Given the description of an element on the screen output the (x, y) to click on. 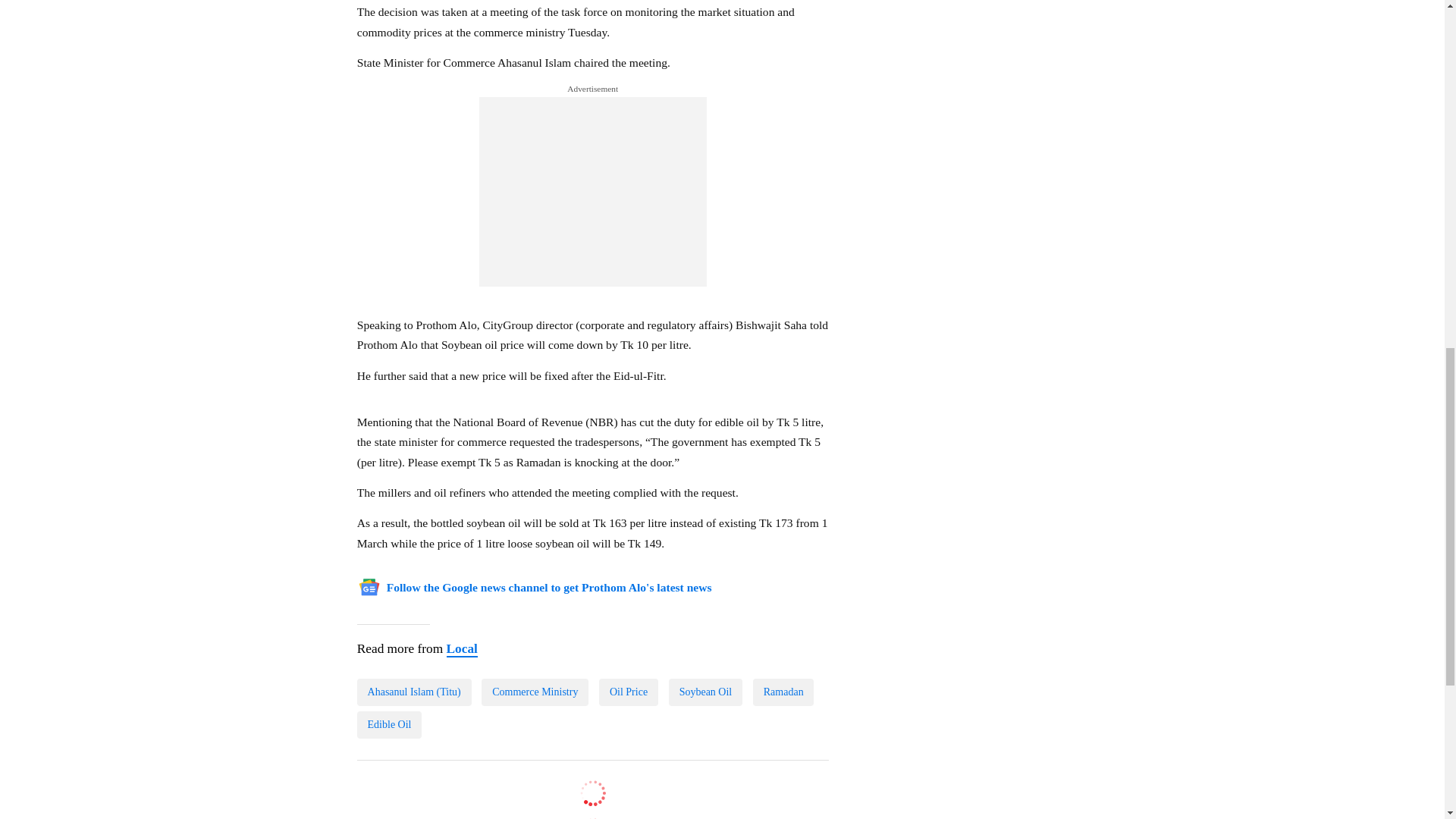
Commerce Ministry (534, 691)
Soybean Oil (705, 691)
Local (461, 649)
Oil Price (628, 691)
Edible Oil (389, 724)
Ramadan (782, 691)
